Given the description of an element on the screen output the (x, y) to click on. 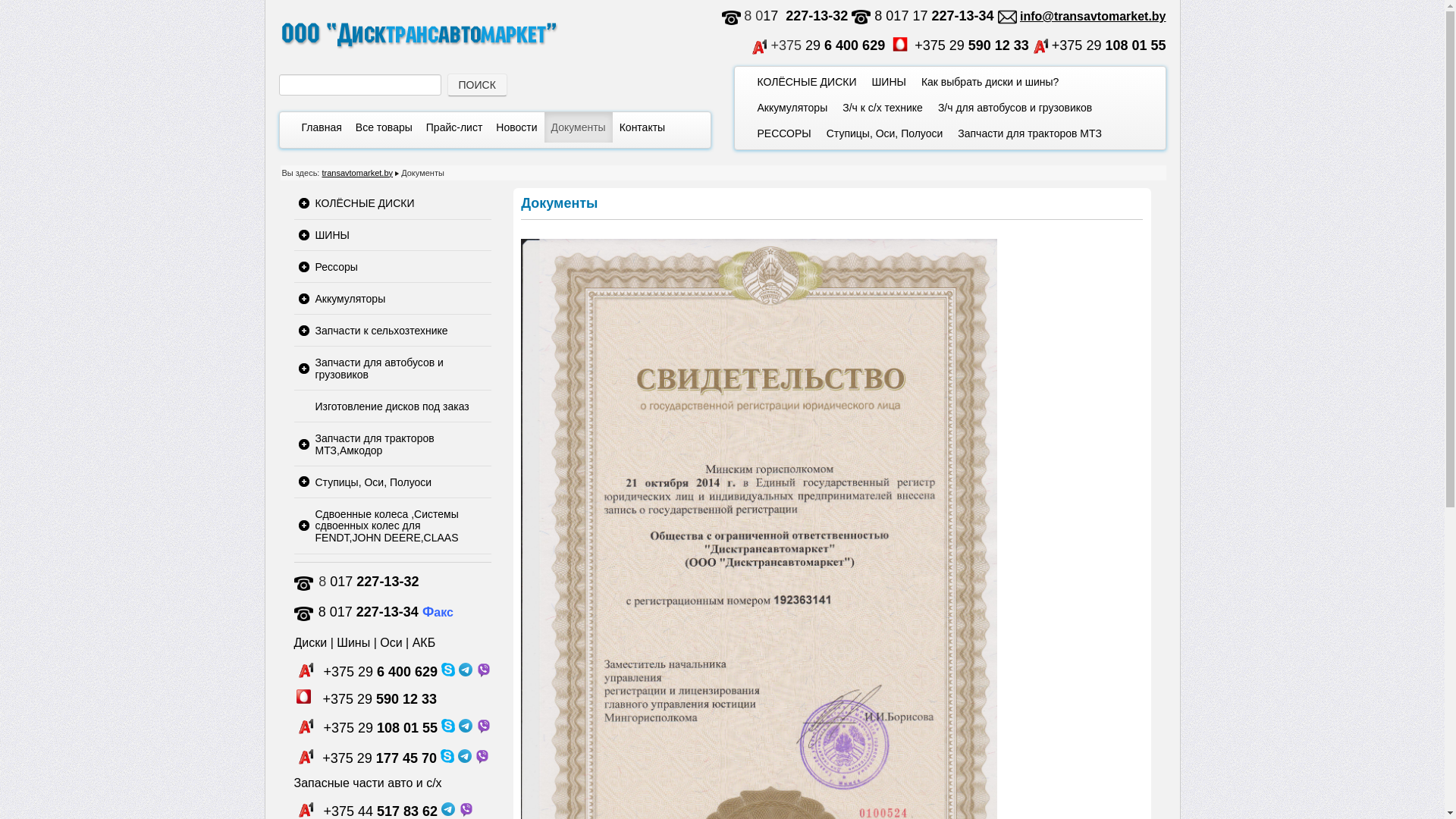
info@transavtomarket.by Element type: text (1092, 15)
transavtomarket.by Element type: text (356, 172)
